Given the description of an element on the screen output the (x, y) to click on. 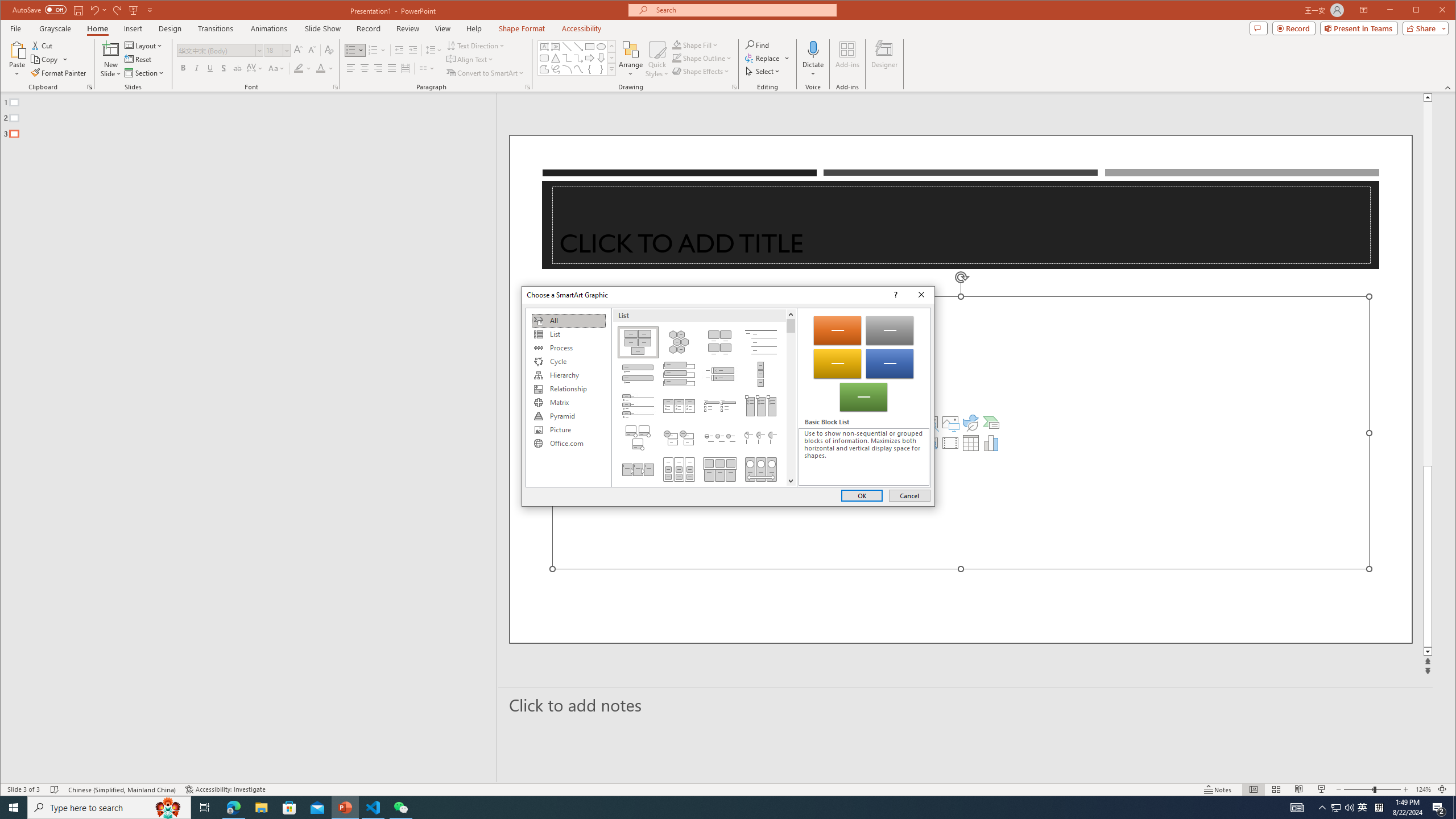
User Promoted Notification Area (1342, 807)
All (568, 320)
Font Color (324, 68)
Line Arrow (577, 46)
Connector: Elbow Arrow (577, 57)
Picture Accent List (761, 405)
Accessibility (581, 28)
New Slide (110, 48)
Stacked List (678, 437)
Bullets (350, 49)
List (568, 334)
Isosceles Triangle (556, 57)
Quick Styles (658, 59)
